Given the description of an element on the screen output the (x, y) to click on. 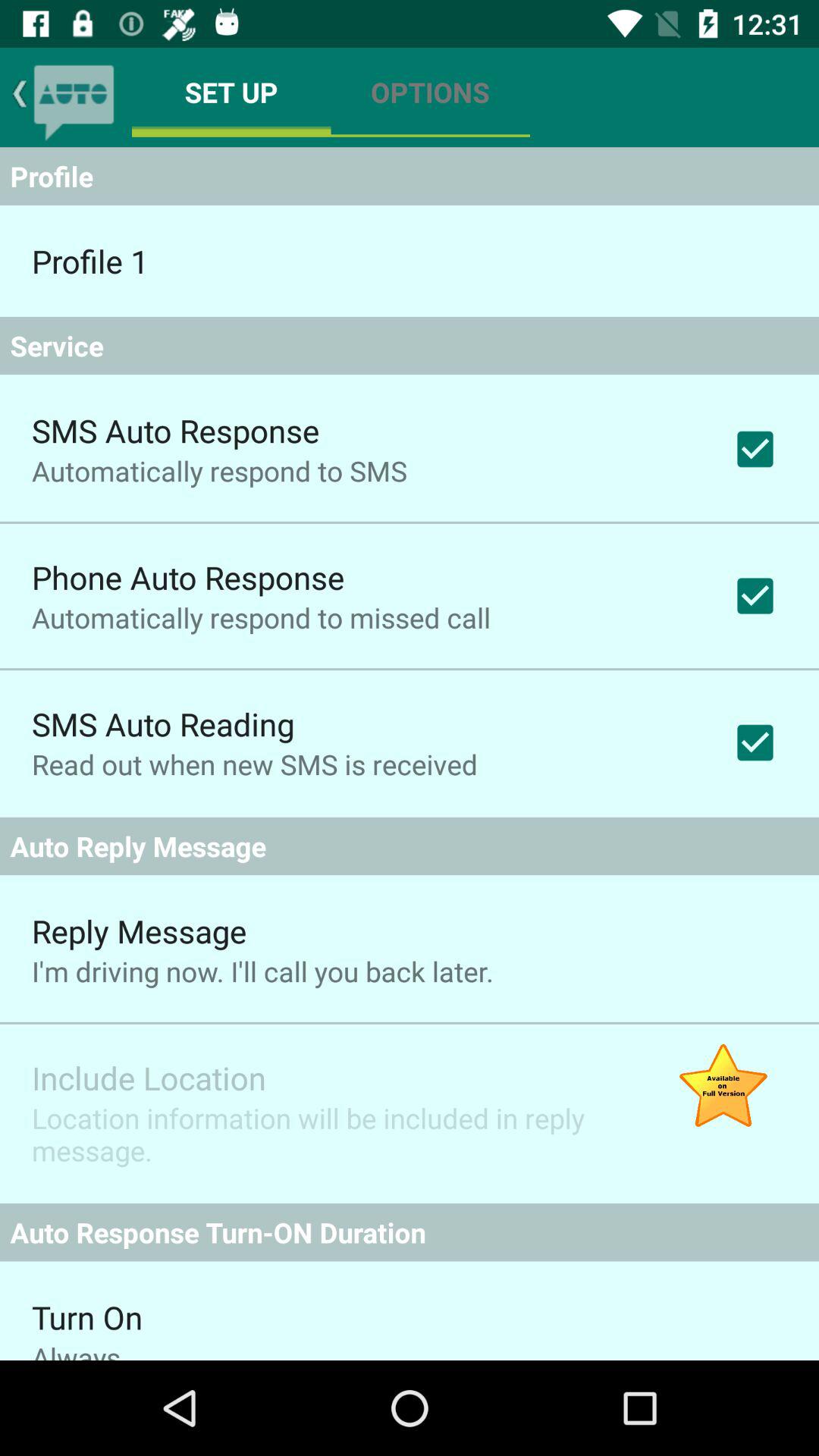
open item above the auto reply message icon (254, 764)
